Given the description of an element on the screen output the (x, y) to click on. 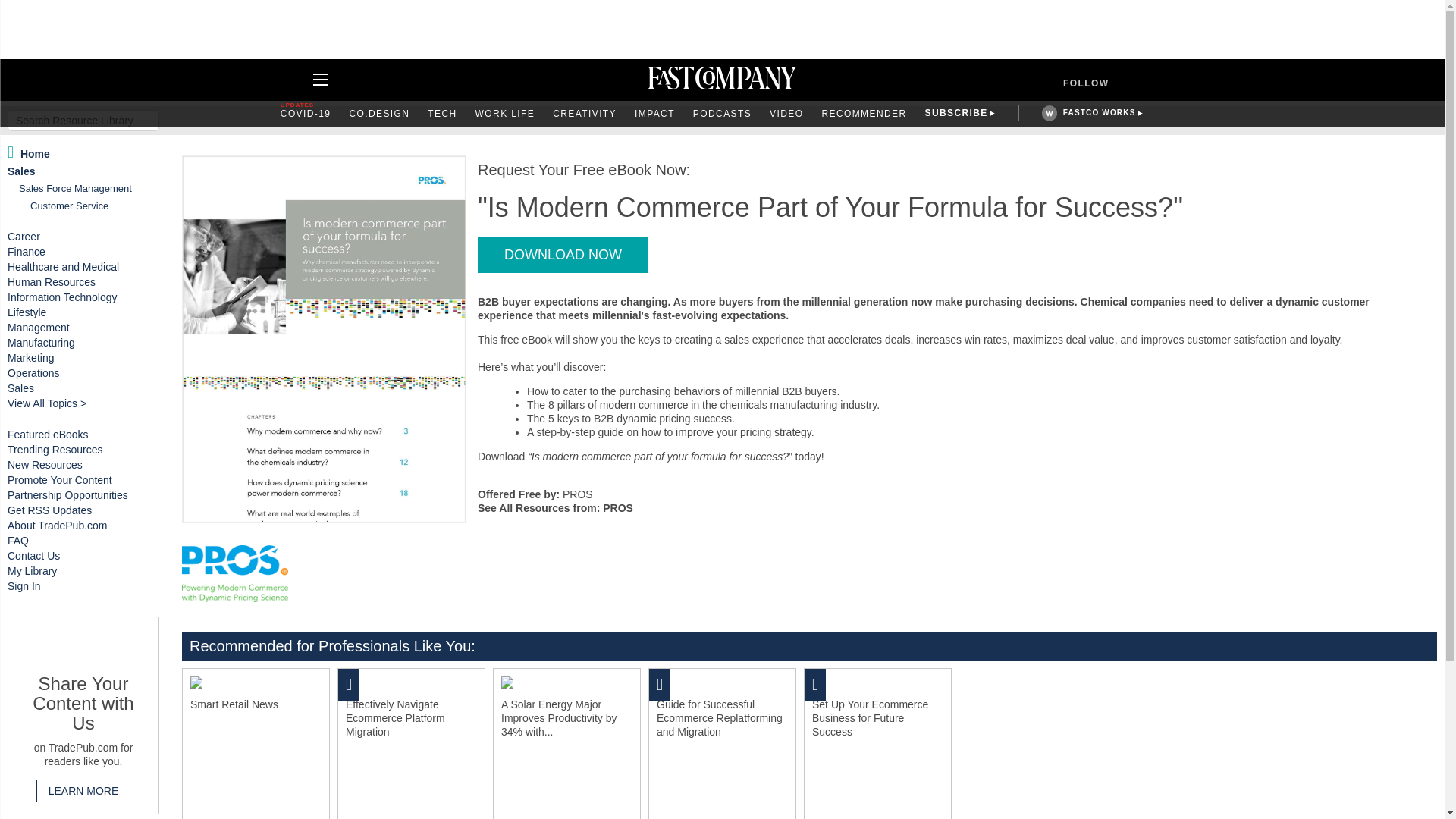
COVID-19 (306, 113)
Tech (442, 113)
Recommender (863, 113)
Creativity (584, 113)
Co.Design (379, 113)
Work Life (505, 113)
Video (786, 113)
Podcasts (722, 113)
Impact (654, 113)
